Given the description of an element on the screen output the (x, y) to click on. 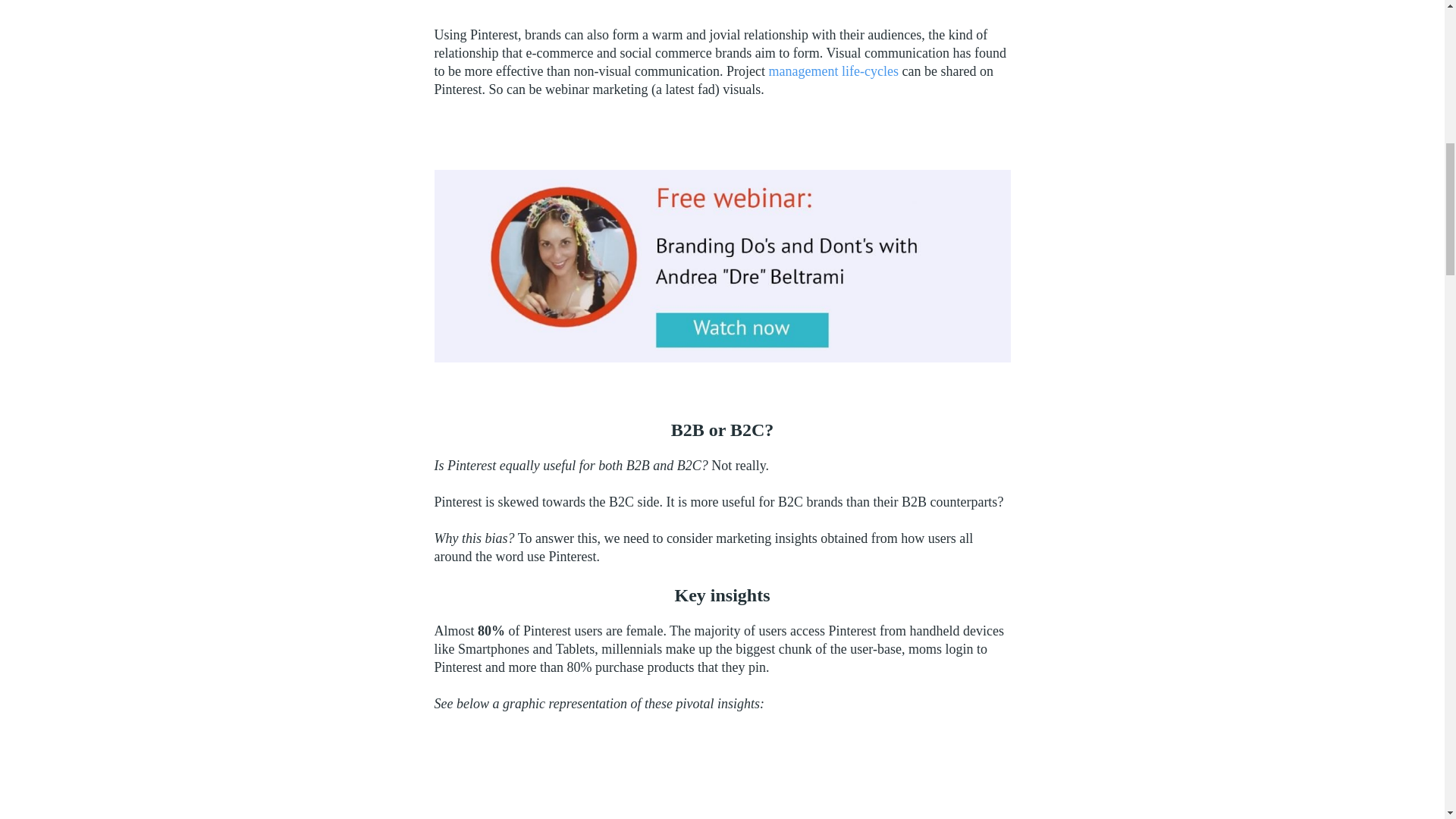
management life-cycles (833, 70)
